Given the description of an element on the screen output the (x, y) to click on. 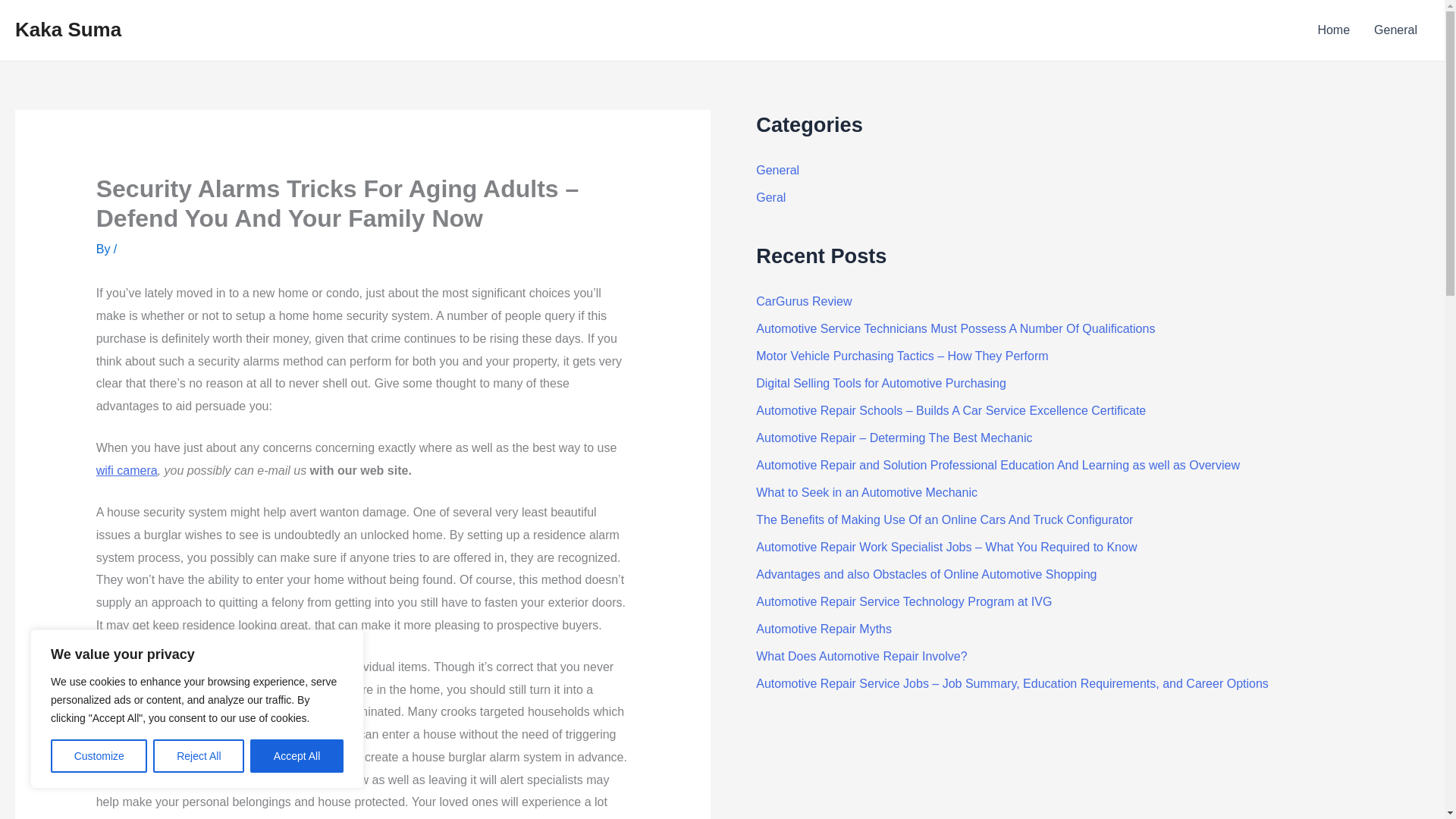
Home (1332, 30)
Geral (770, 196)
Customize (98, 756)
Accept All (296, 756)
wifi camera (126, 470)
General (777, 169)
General (1395, 30)
Digital Selling Tools for Automotive Purchasing (880, 382)
Reject All (198, 756)
Kaka Suma (67, 29)
CarGurus Review (803, 300)
